Given the description of an element on the screen output the (x, y) to click on. 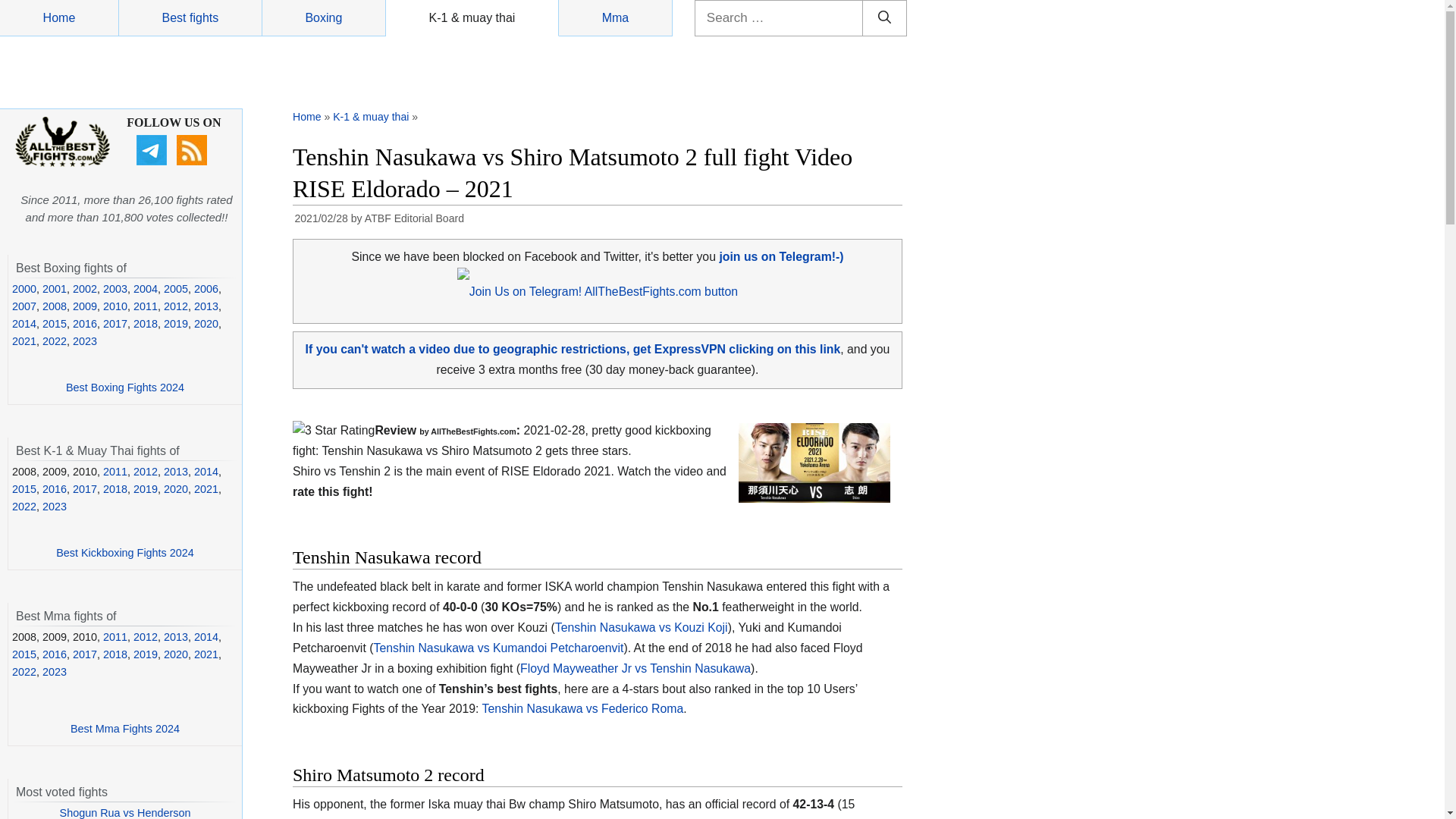
Best fights (190, 18)
Home (306, 116)
3 stars: good fight or nice ko (333, 430)
Boxing (323, 18)
Mma (615, 18)
Join Us on Telegram! AllTheBestFights.com (597, 291)
View all posts by ATBF Editorial Board (414, 218)
Join Us on Telegram! AllTheBestFights.com (781, 256)
Search for: (780, 18)
